Given the description of an element on the screen output the (x, y) to click on. 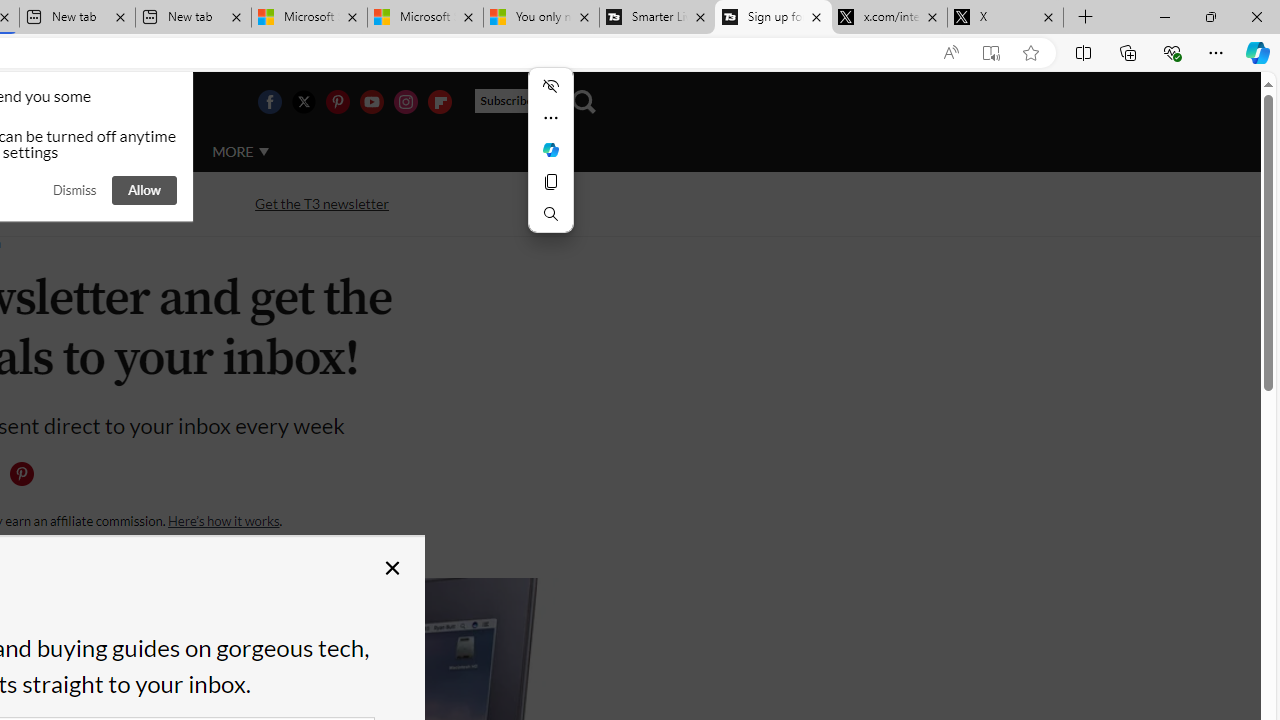
AUTO (153, 151)
Dismiss (73, 190)
Get the T3 newsletter (322, 204)
Visit us on Flipboard (439, 101)
Smarter Living | T3 (657, 17)
Hide menu (550, 85)
Visit us on Youtube (371, 101)
Mini menu on text selection (550, 161)
Share this page on Pintrest (21, 474)
